Given the description of an element on the screen output the (x, y) to click on. 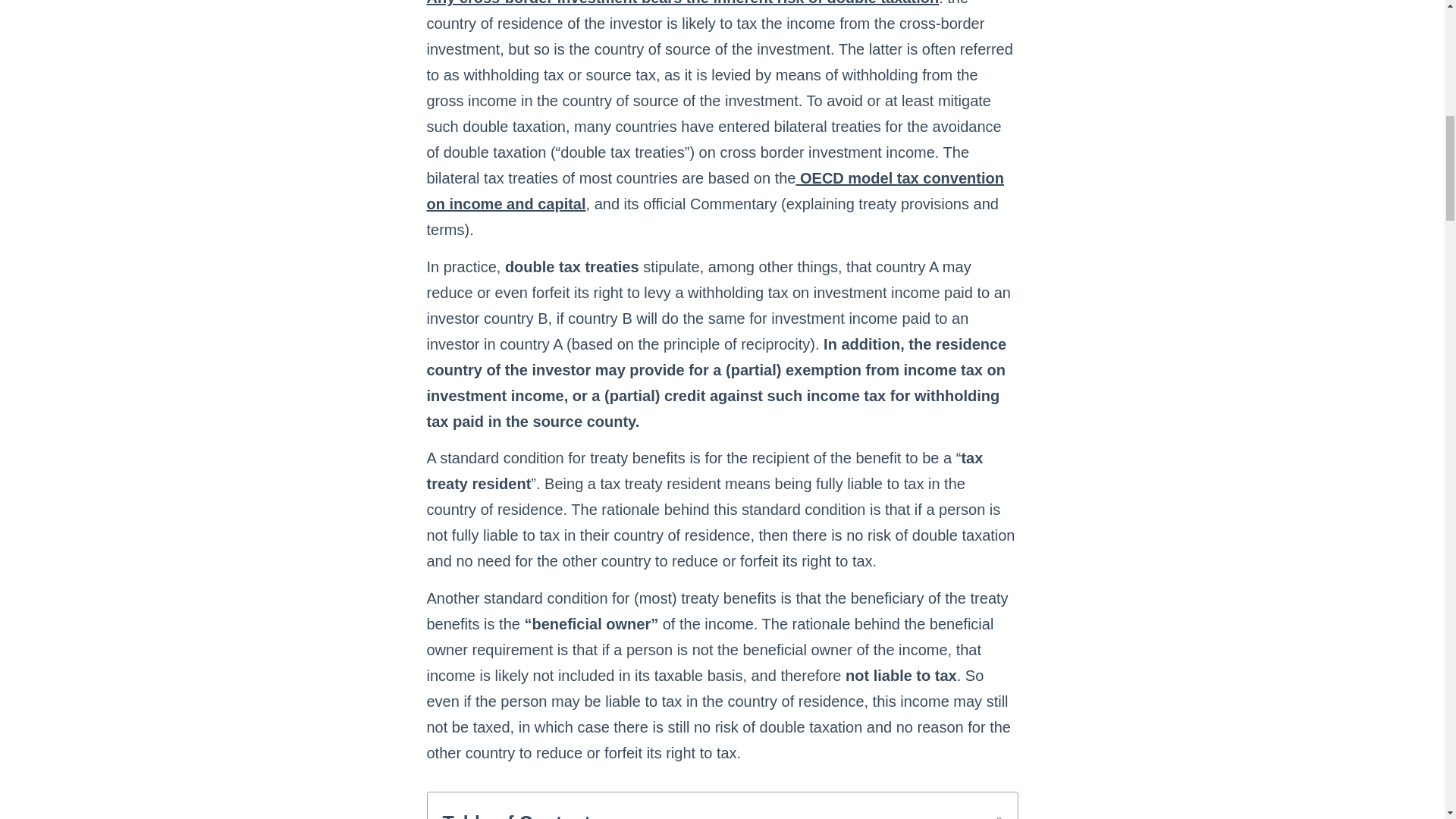
OECD model (845, 177)
tax convention on income and capital (714, 190)
